Given the description of an element on the screen output the (x, y) to click on. 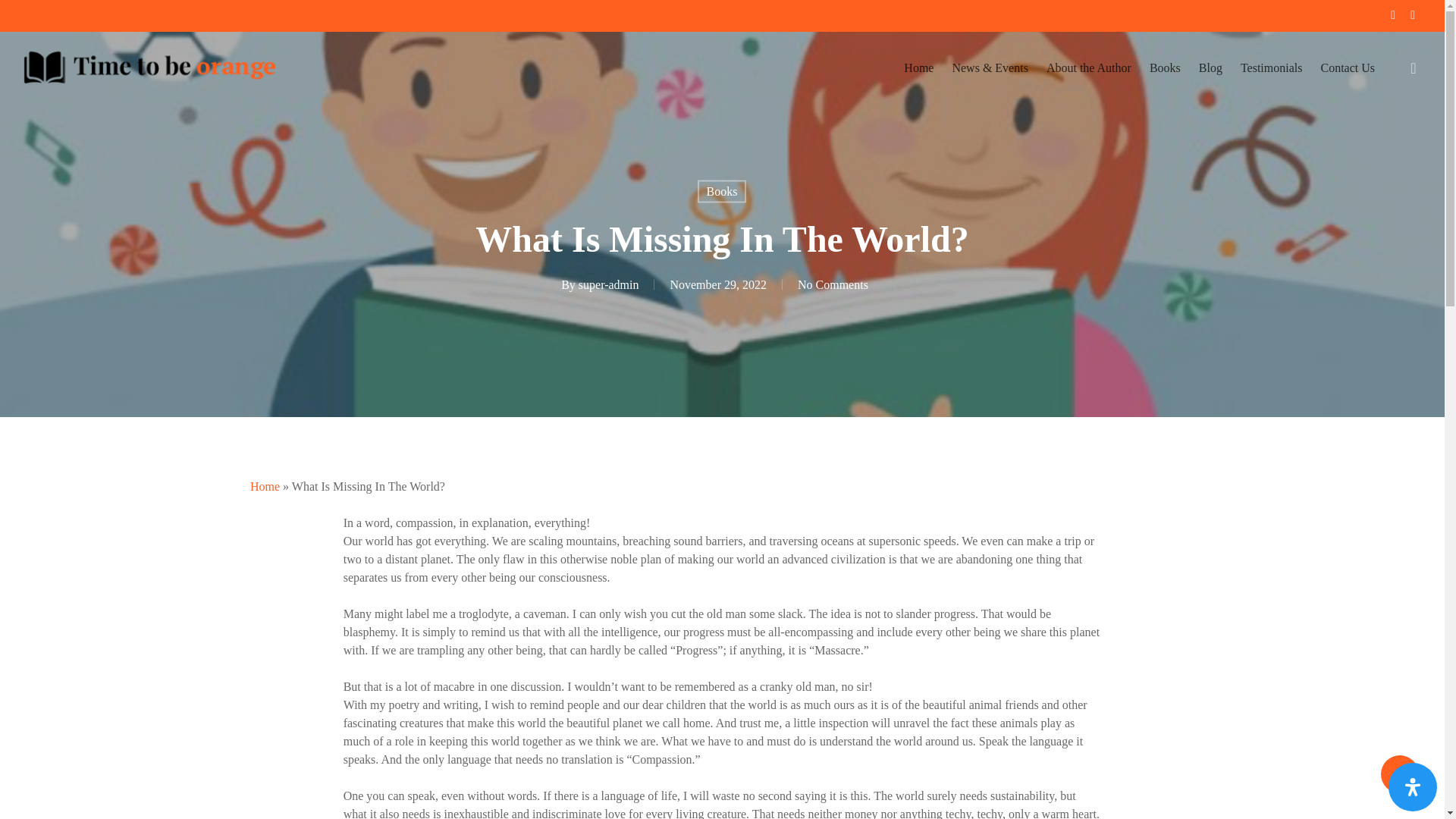
No Comments (832, 283)
Posts by super-admin (608, 283)
Home (918, 67)
Testimonials (1271, 67)
Blog (1210, 67)
Books (1164, 67)
Home (264, 486)
Contact Us (1347, 67)
About the Author (1088, 67)
Books (721, 191)
